Given the description of an element on the screen output the (x, y) to click on. 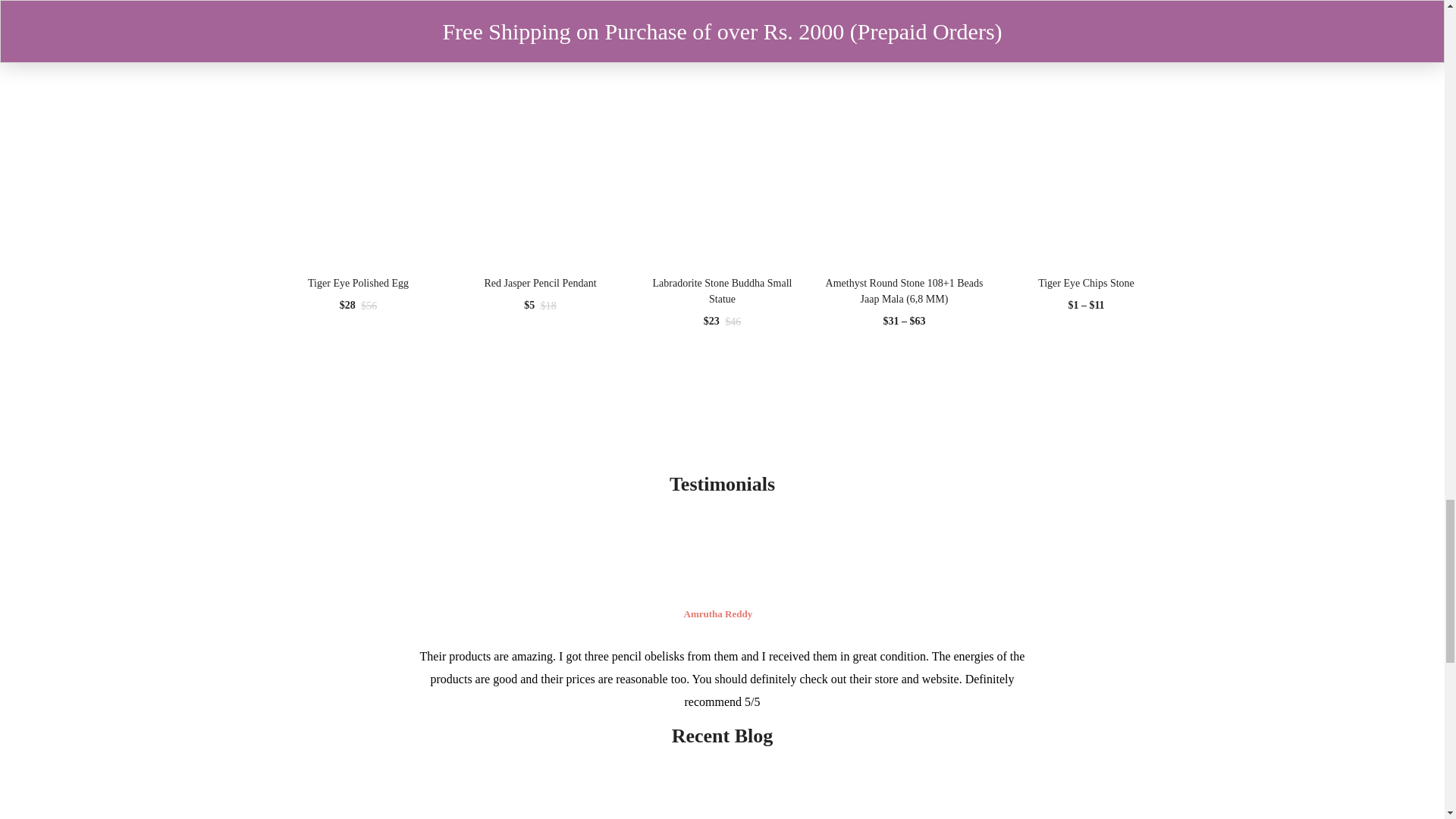
Red Jasper Pencil Pendant (540, 152)
Tiger Eye Polished Egg (358, 152)
Labradorite Stone Buddha Small Statue (722, 152)
